Given the description of an element on the screen output the (x, y) to click on. 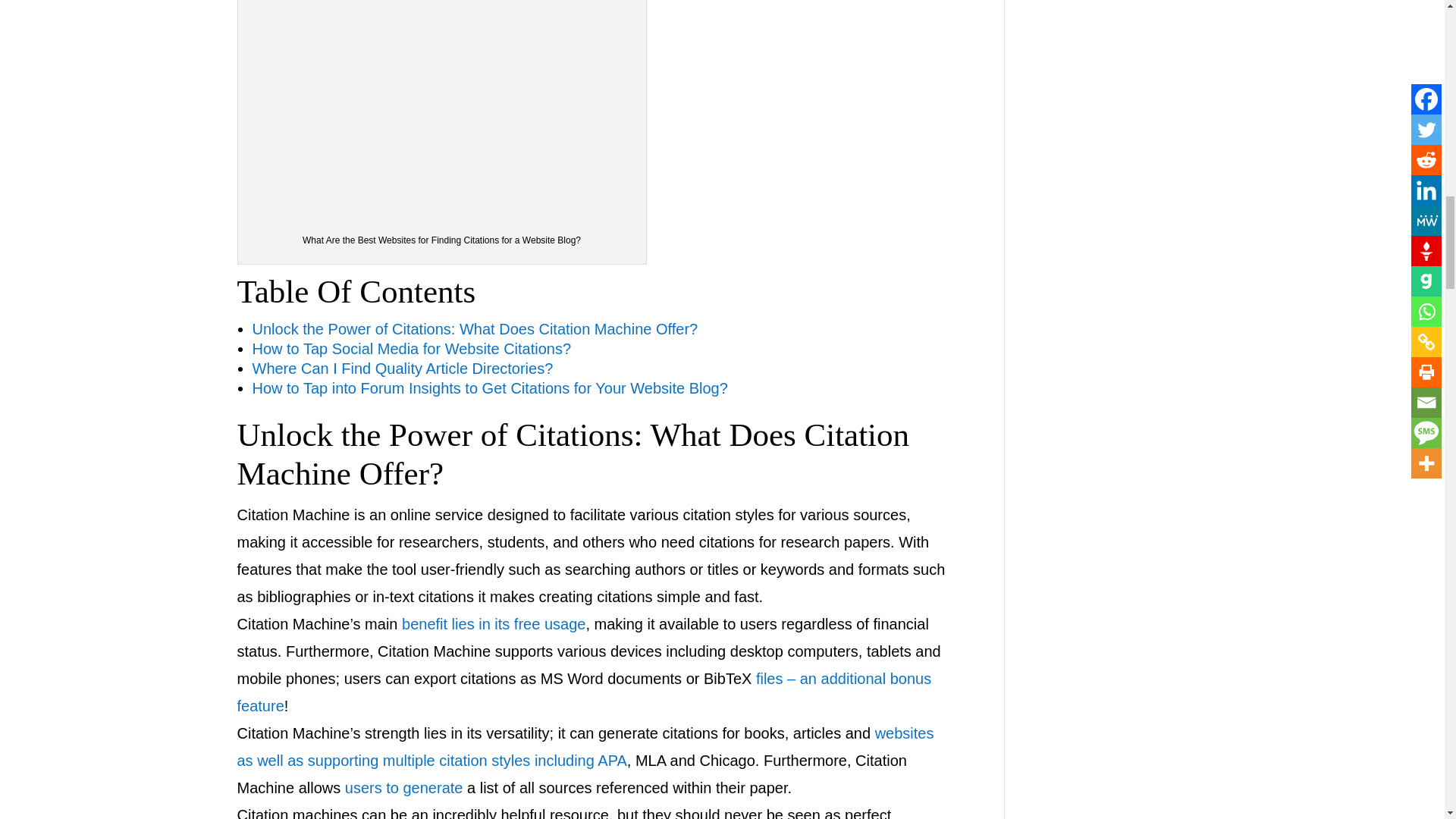
Where Can I Find Quality Article Directories? (402, 368)
How to Tap Social Media for Website Citations? (410, 348)
